Given the description of an element on the screen output the (x, y) to click on. 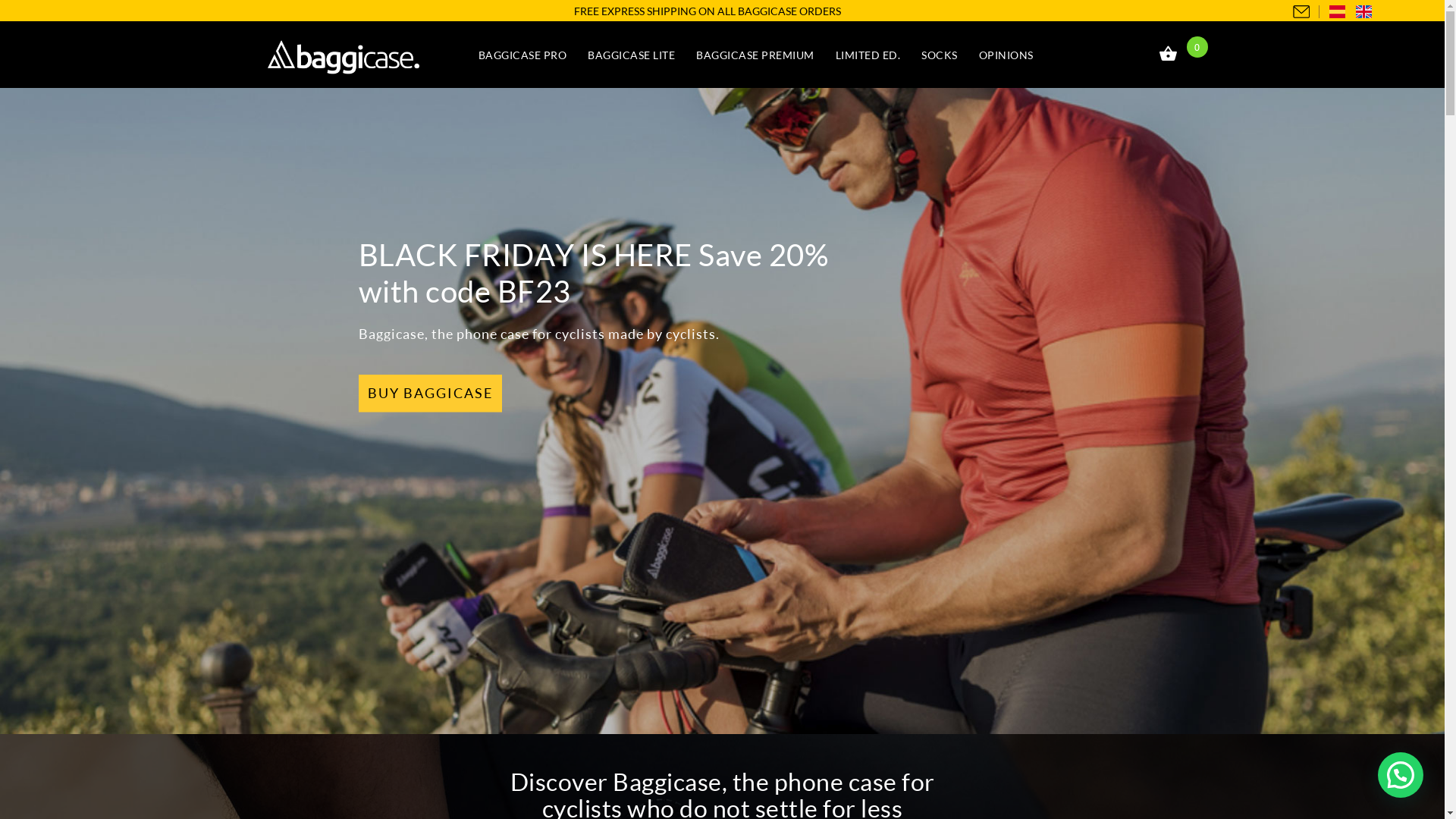
BAGGICASE PREMIUM Element type: text (755, 55)
Spanish Element type: text (1337, 12)
OPINIONS Element type: text (1005, 55)
BAGGICASE Element type: text (366, 57)
SOCKS Element type: text (939, 55)
BAGGICASE LITE Element type: text (631, 55)
LIMITED ED. Element type: text (868, 55)
BUY BAGGICASE Element type: text (429, 393)
English Element type: text (1363, 12)
BAGGICASE PRO Element type: text (522, 55)
